Given the description of an element on the screen output the (x, y) to click on. 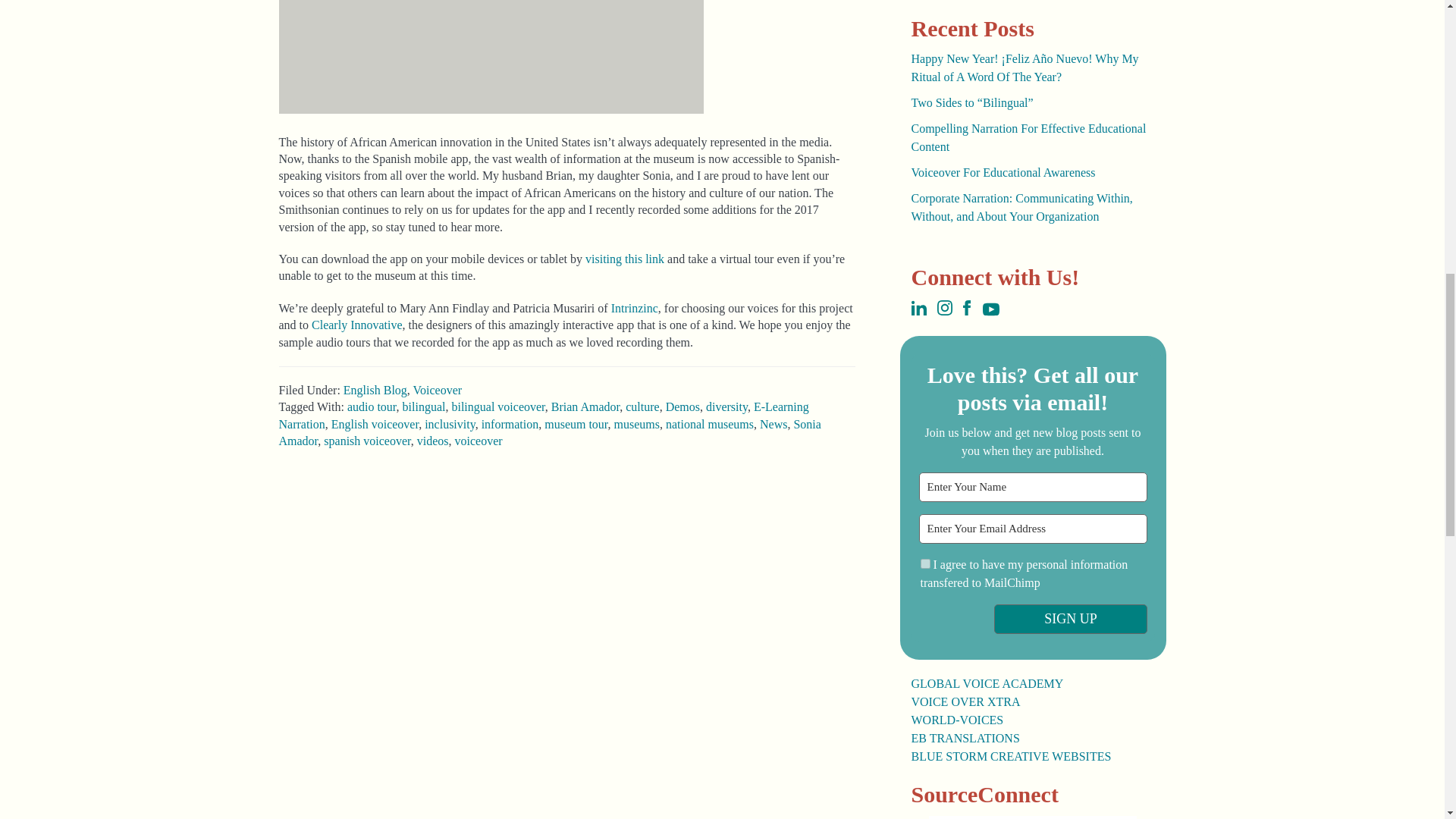
visiting this link (624, 258)
linkedin (918, 310)
Intrinzinc (634, 308)
instagram (944, 310)
SIGN UP (1070, 618)
Youtube (990, 310)
Facebook (966, 310)
